Given the description of an element on the screen output the (x, y) to click on. 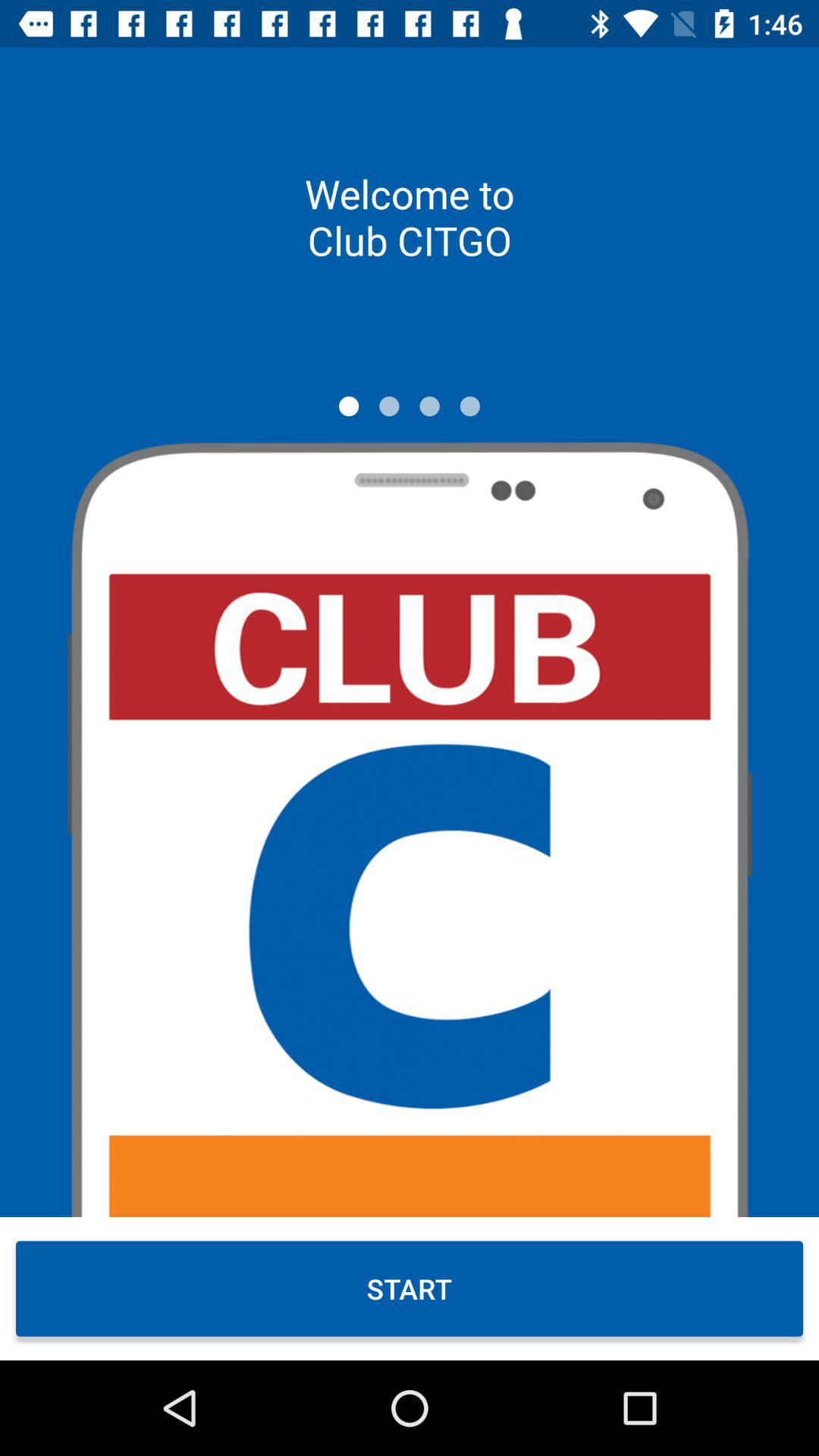
switch screen (348, 406)
